Given the description of an element on the screen output the (x, y) to click on. 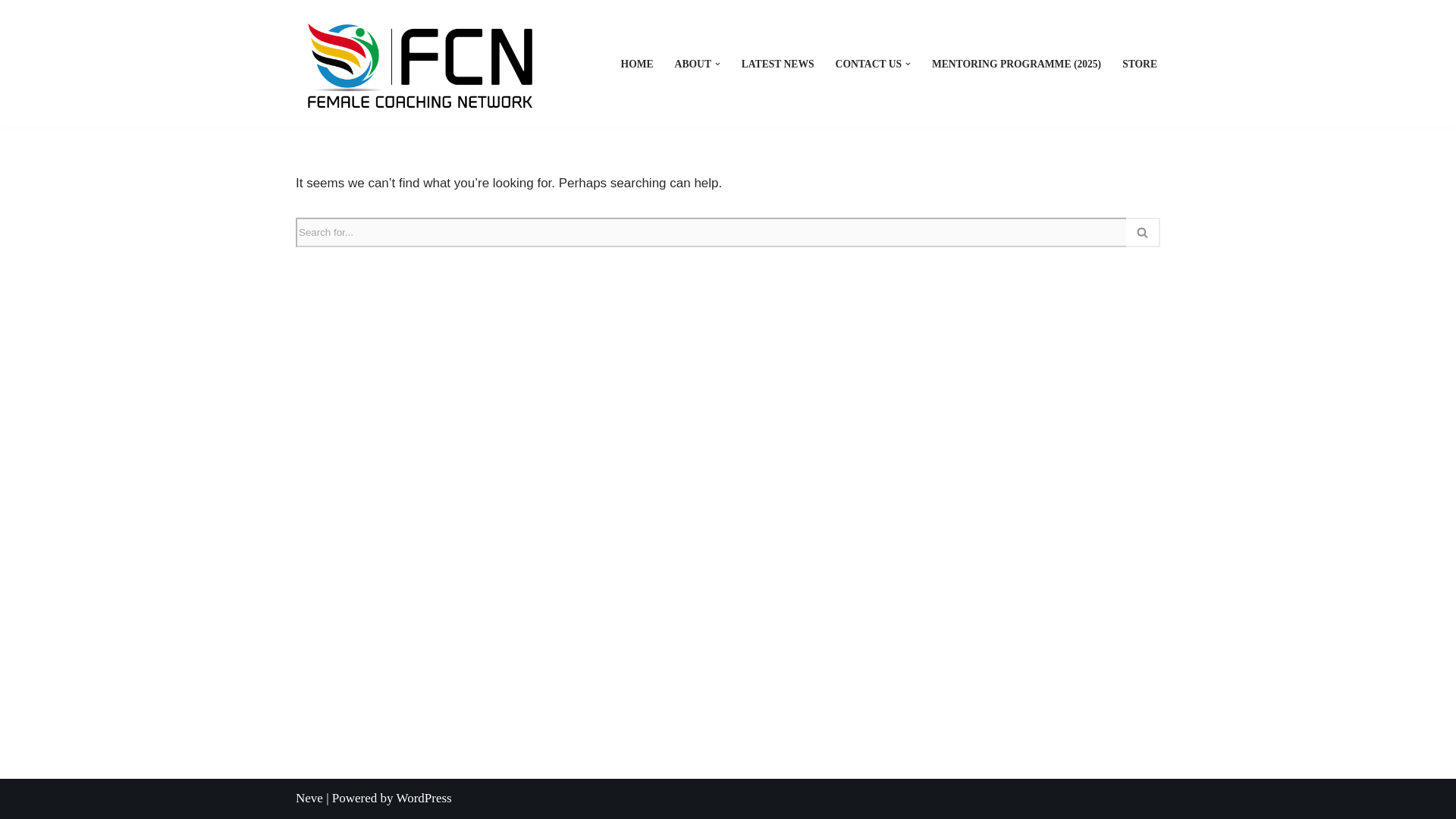
WordPress (423, 798)
STORE (1139, 63)
ABOUT (693, 63)
Neve (309, 798)
Skip to content (11, 31)
LATEST NEWS (777, 63)
CONTACT US (868, 63)
HOME (637, 63)
